Given the description of an element on the screen output the (x, y) to click on. 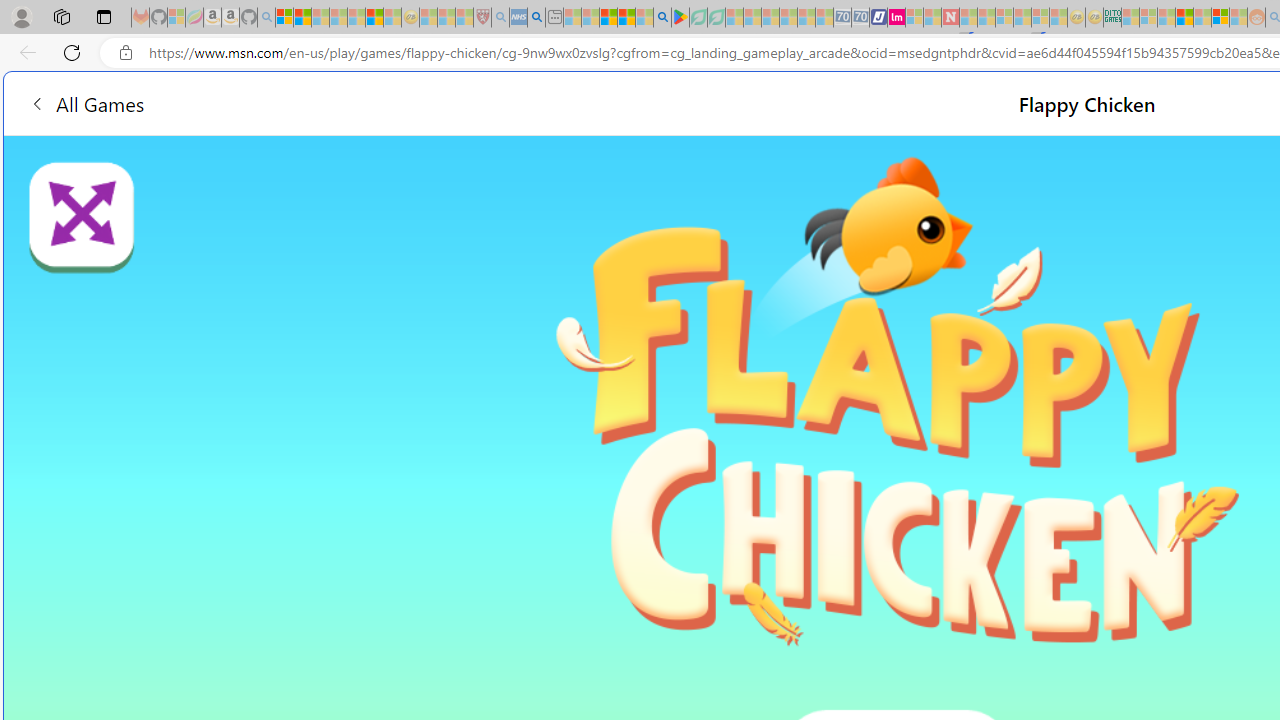
All Games (86, 102)
Terms of Use Agreement - Sleeping (697, 17)
